Given the description of an element on the screen output the (x, y) to click on. 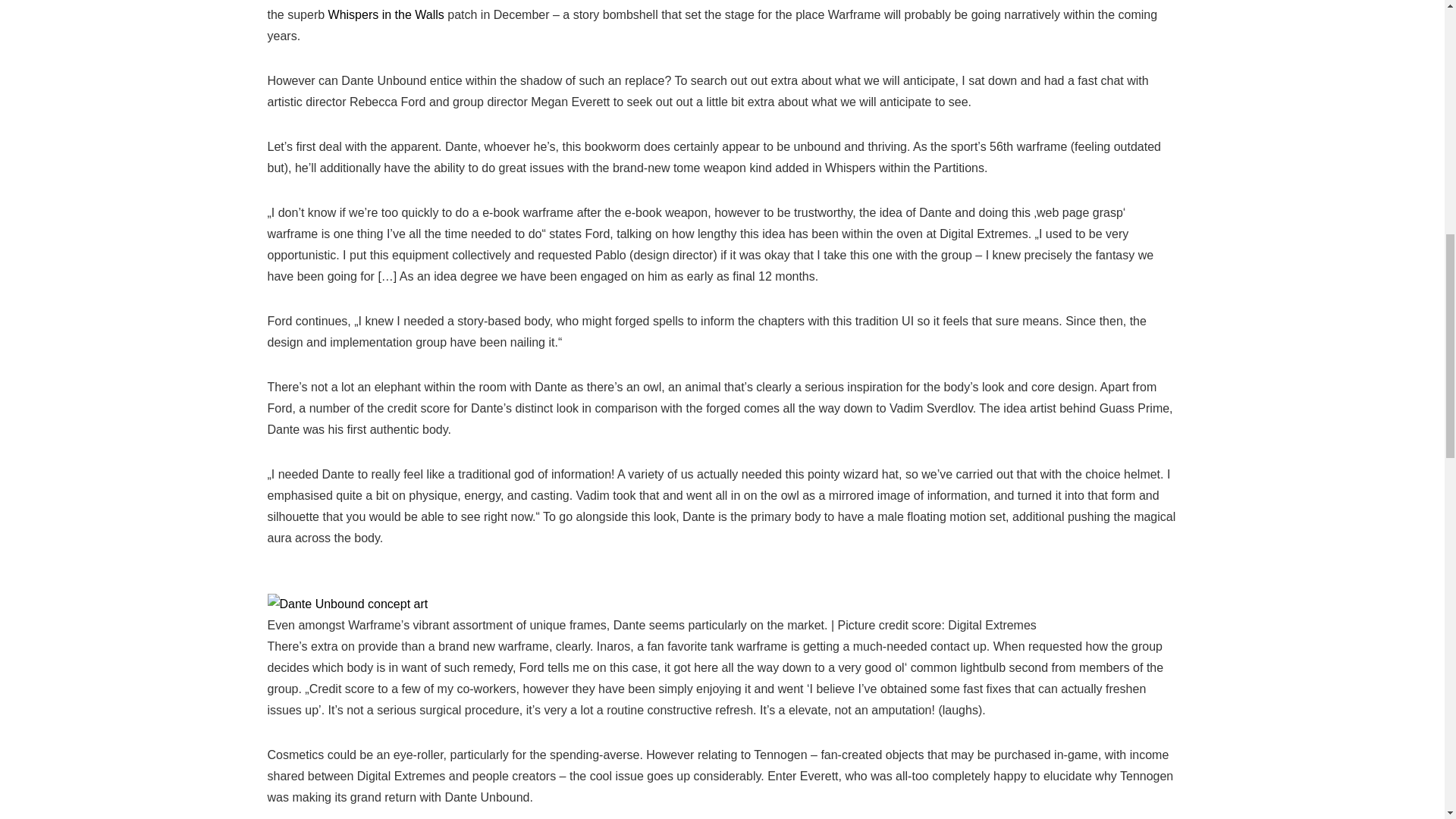
Whispers in the Walls (386, 14)
